Given the description of an element on the screen output the (x, y) to click on. 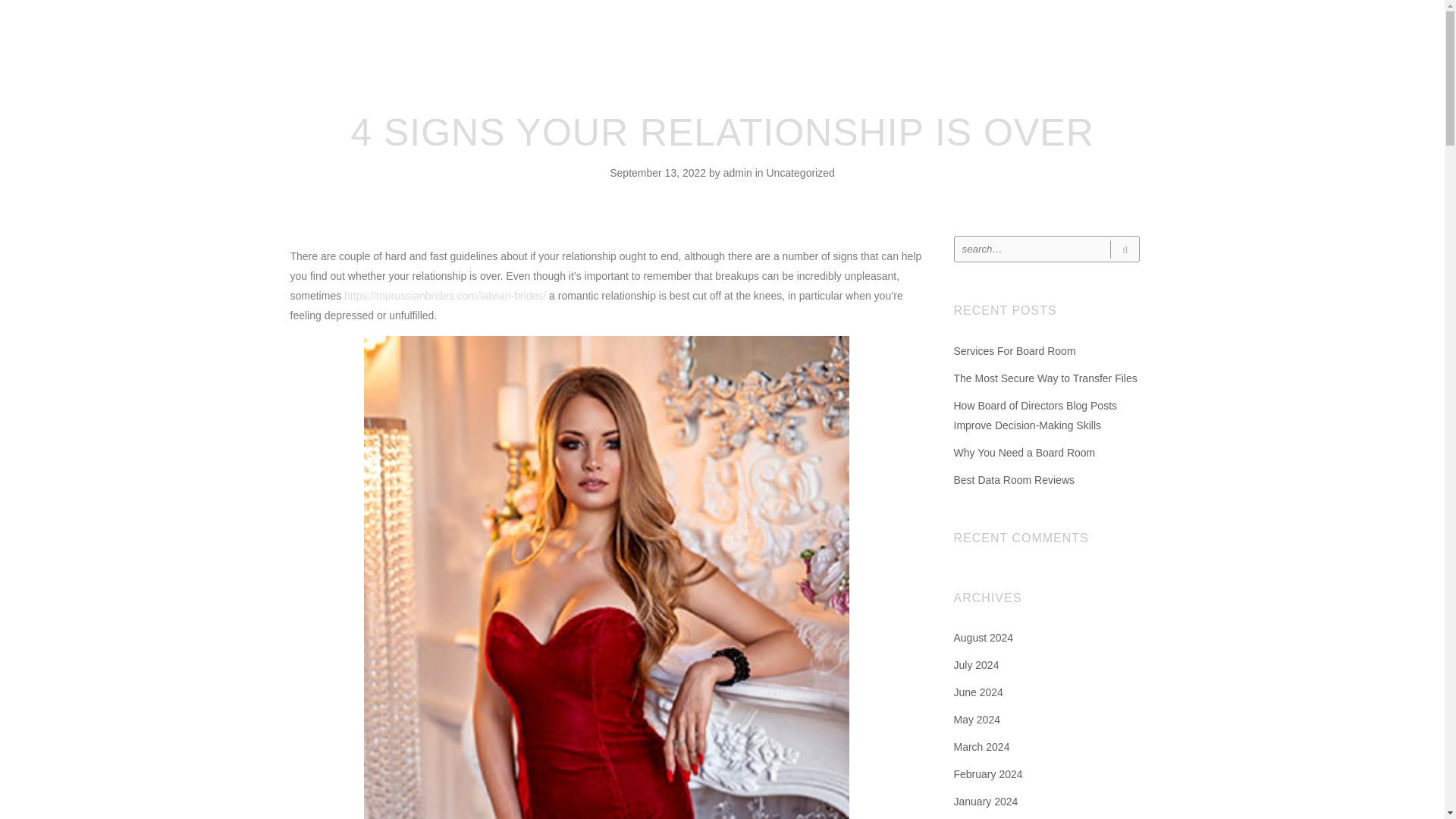
The Most Secure Way to Transfer Files (1045, 378)
Search (1123, 248)
THE HIDDEN STUDIO (728, 33)
admin (739, 173)
Uncategorized (799, 173)
Why You Need a Board Room (1024, 452)
Services For Board Room (1014, 350)
